Given the description of an element on the screen output the (x, y) to click on. 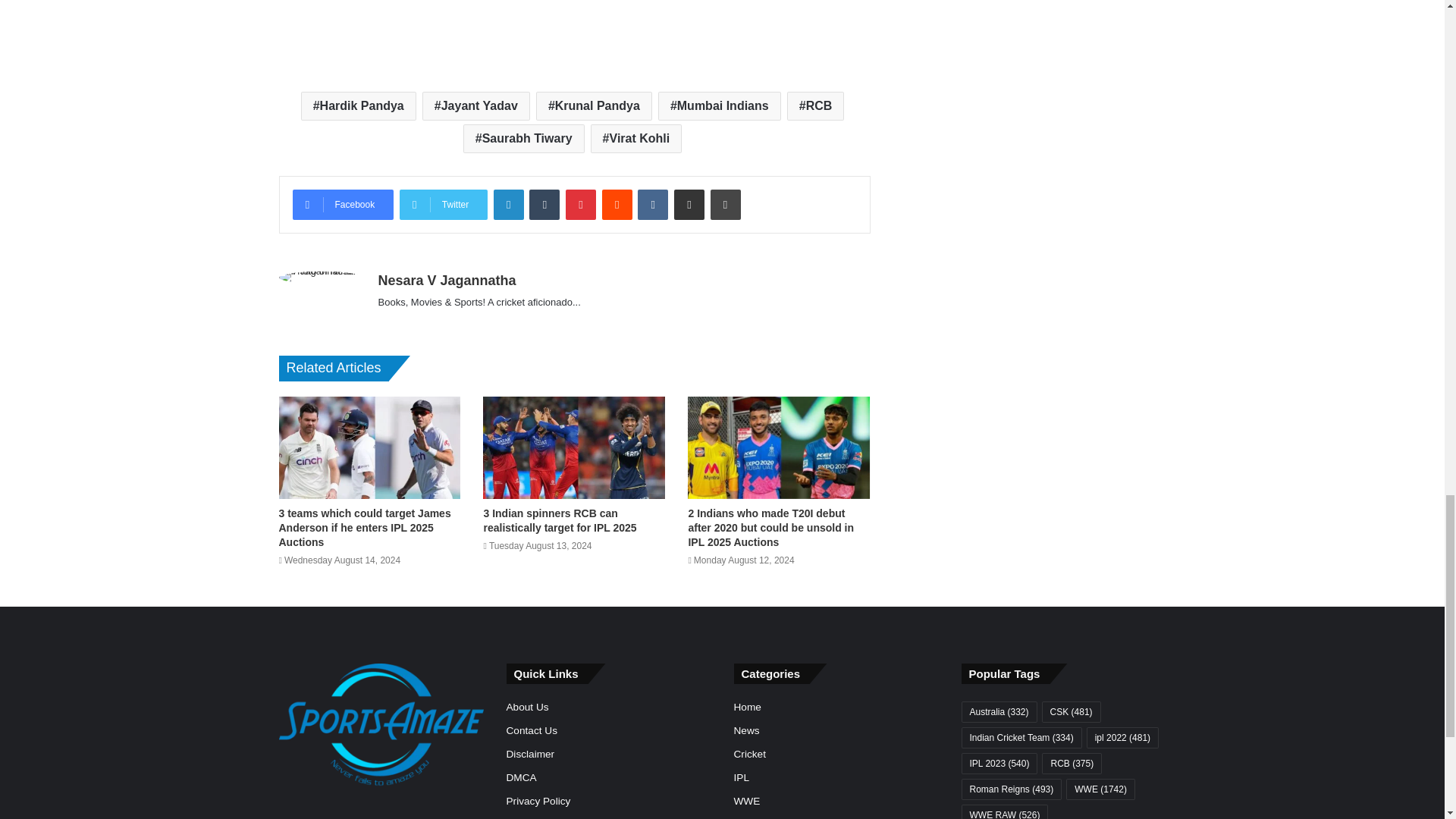
Hardik Pandya (358, 105)
LinkedIn (508, 204)
Twitter (442, 204)
Reddit (616, 204)
Jayant Yadav (475, 105)
Share via Email (689, 204)
Facebook (343, 204)
Tumblr (544, 204)
VKontakte (652, 204)
Pinterest (580, 204)
